Given the description of an element on the screen output the (x, y) to click on. 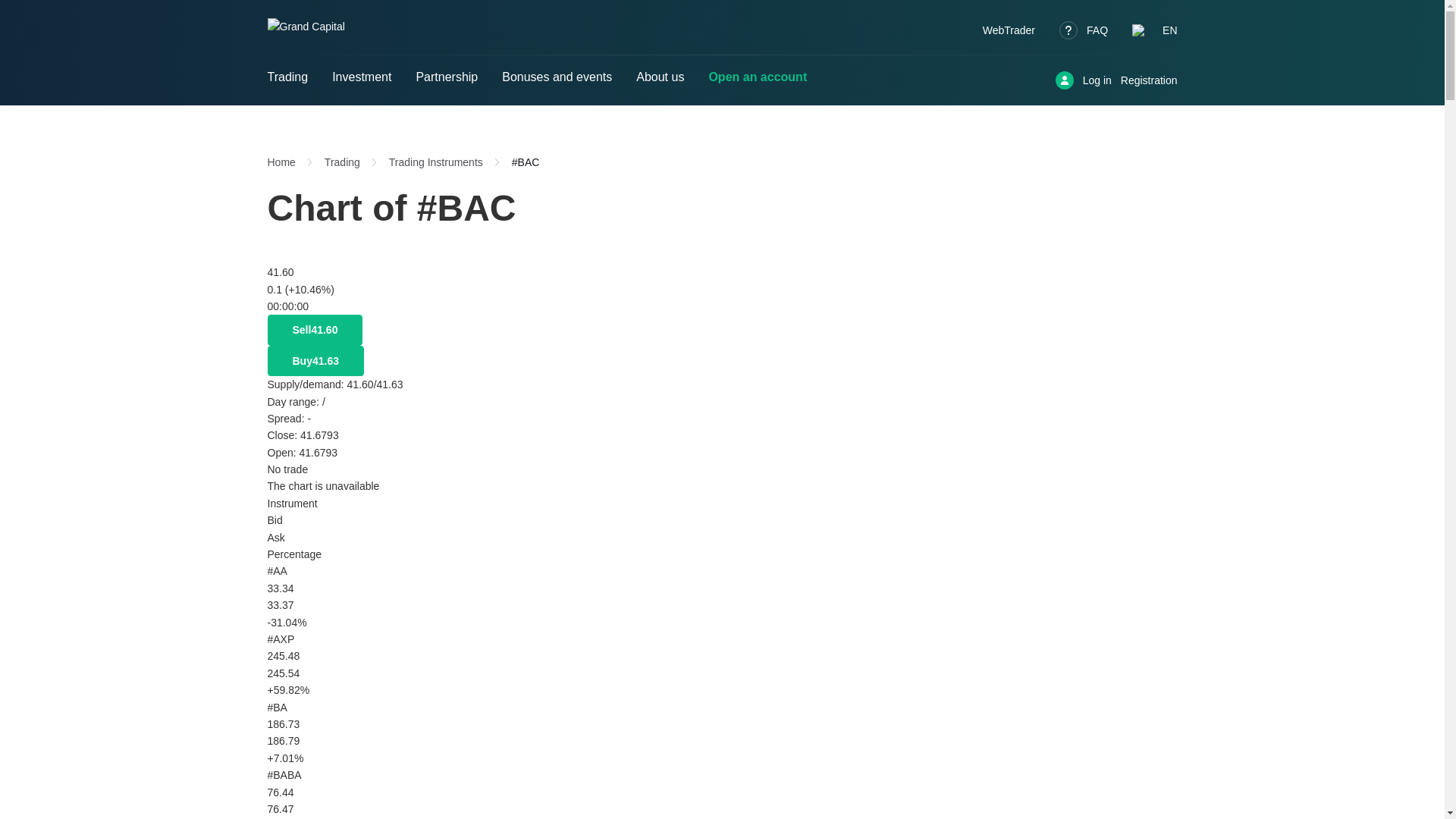
Partnership (446, 80)
Investment (361, 80)
WebTrader (1008, 30)
EN (1154, 30)
Trading (293, 80)
About us (659, 80)
Bonuses and events (556, 80)
Open an account (756, 80)
FAQ (1083, 30)
